Given the description of an element on the screen output the (x, y) to click on. 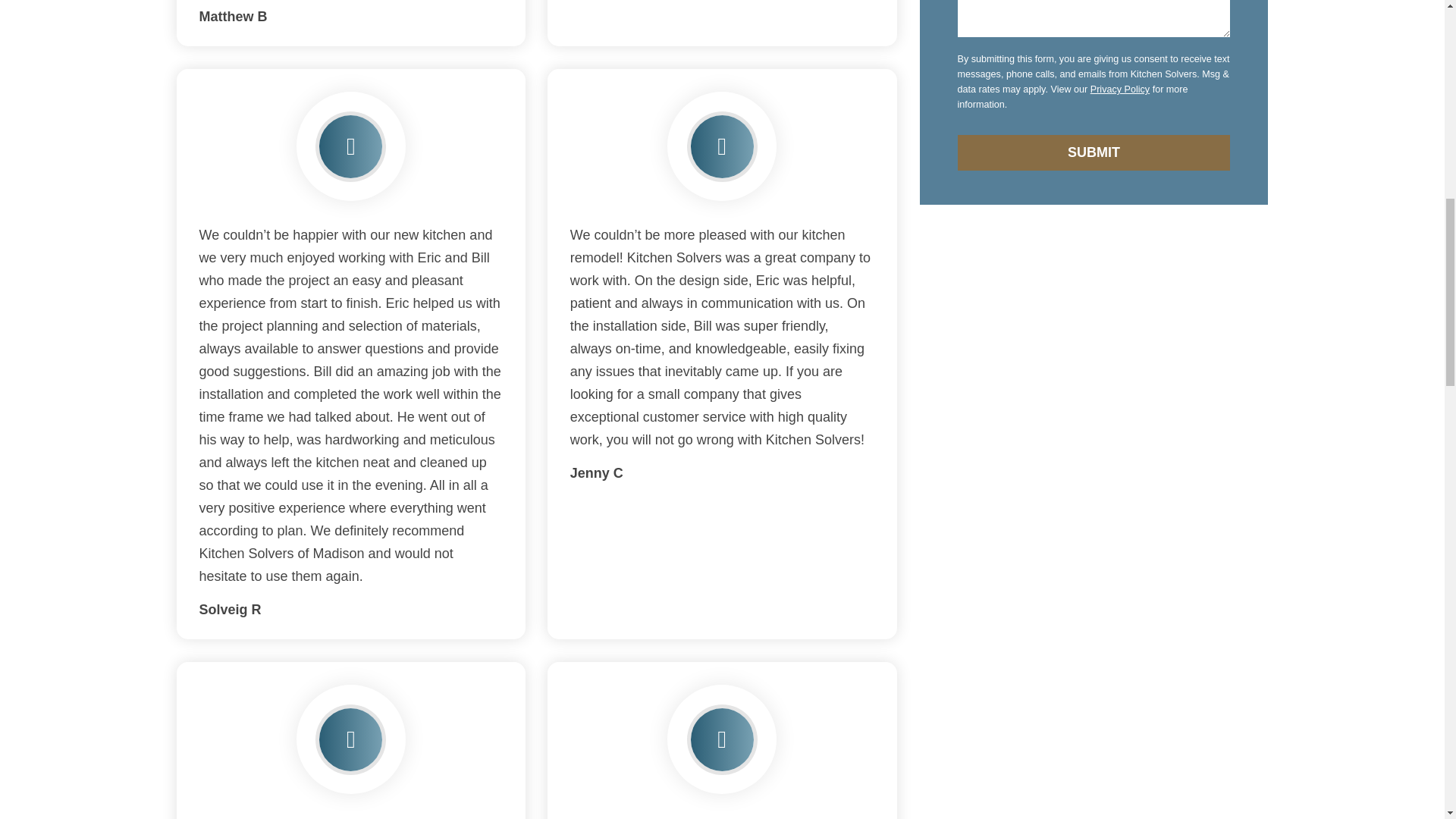
Submit (1093, 152)
Privacy Policy (1120, 89)
Submit (1093, 152)
